Given the description of an element on the screen output the (x, y) to click on. 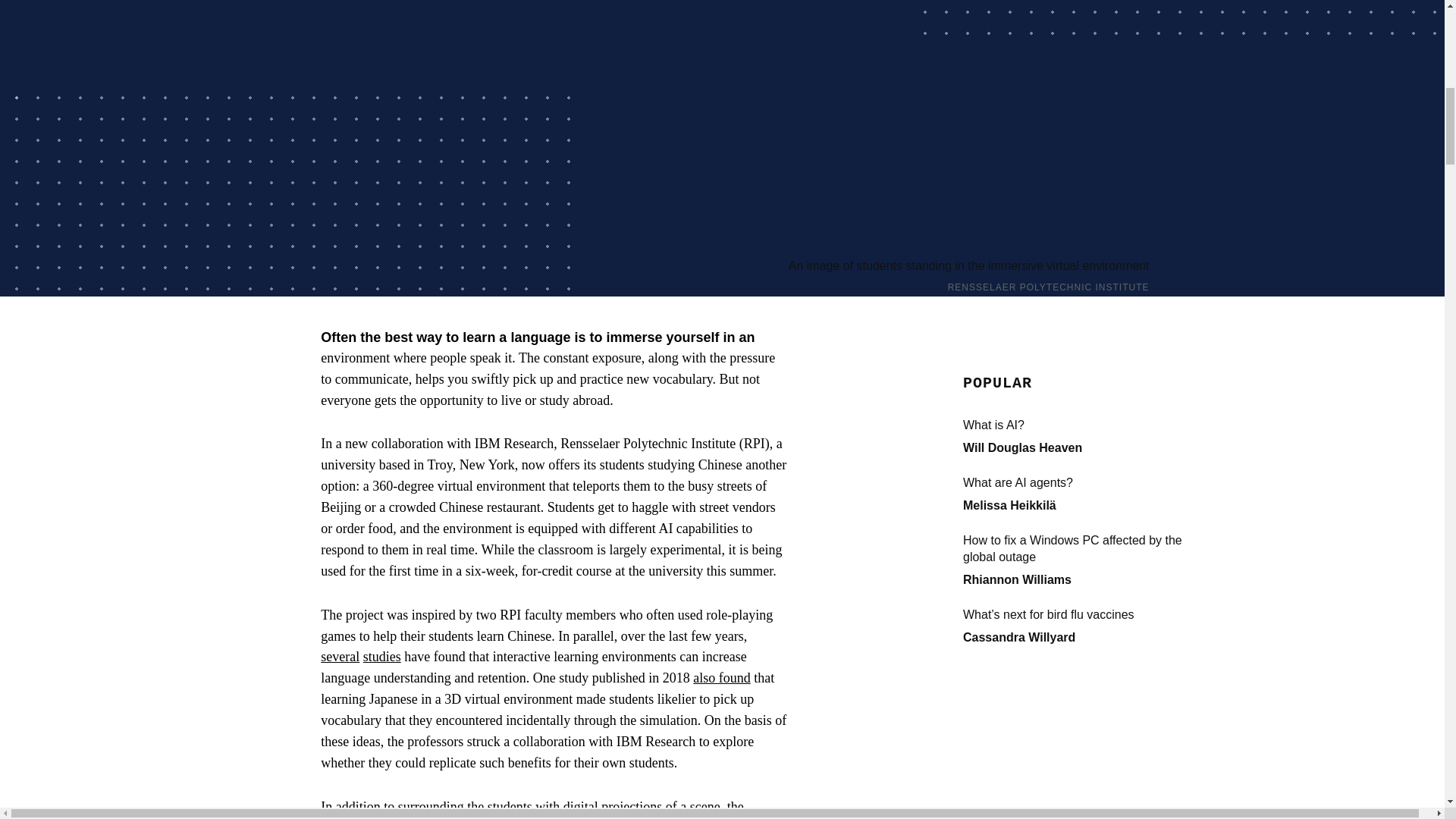
Will Douglas Heaven (1021, 447)
Cassandra Willyard (1018, 636)
How to fix a Windows PC affected by the global outage (1075, 548)
also found (722, 677)
Rhiannon Williams (1016, 579)
What are AI agents?  (1075, 483)
What is AI? (1075, 425)
several (339, 656)
studies (381, 656)
